Given the description of an element on the screen output the (x, y) to click on. 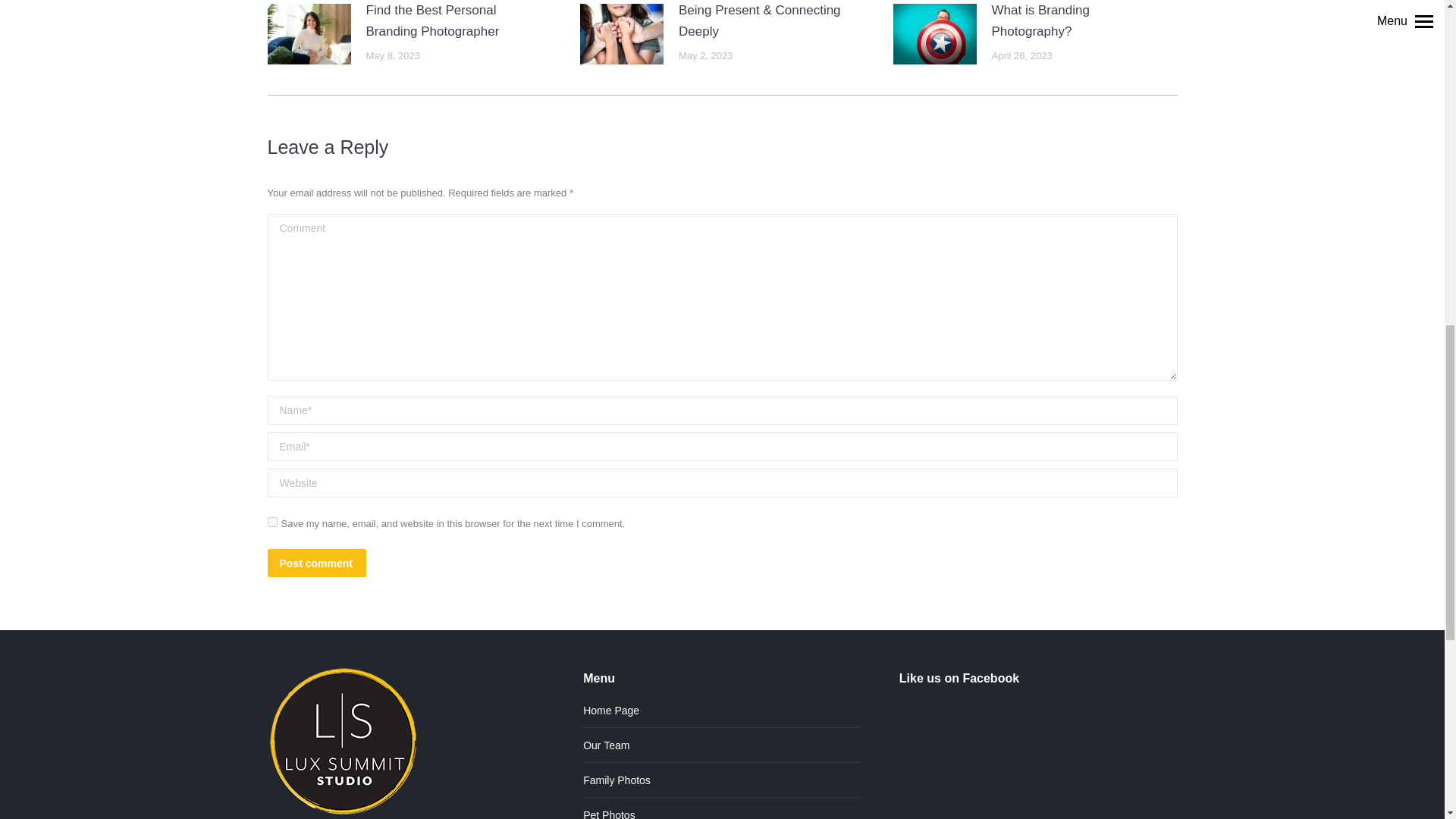
yes (271, 521)
